Given the description of an element on the screen output the (x, y) to click on. 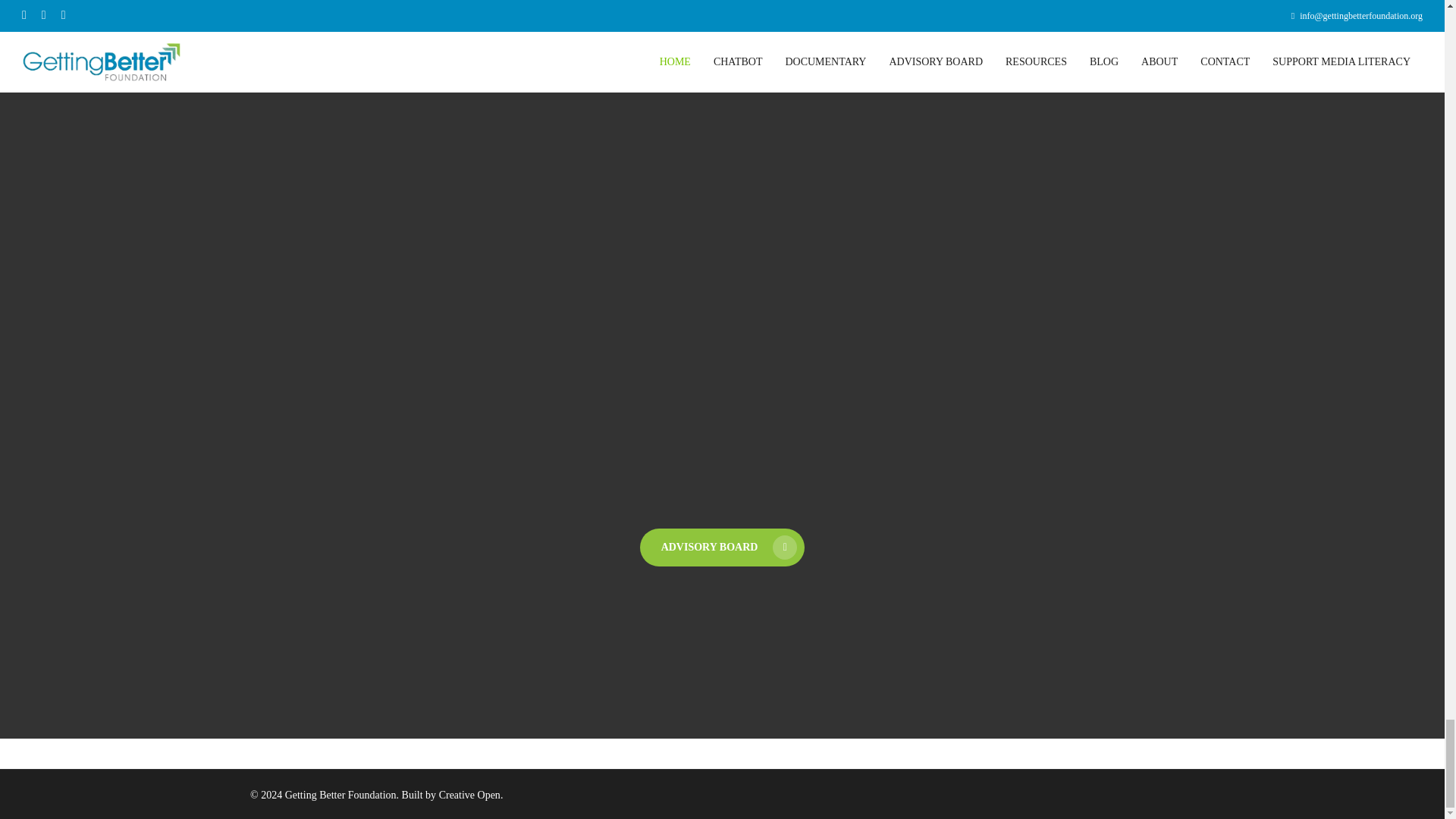
Creative Open (469, 794)
ADVISORY BOARD (722, 547)
